Given the description of an element on the screen output the (x, y) to click on. 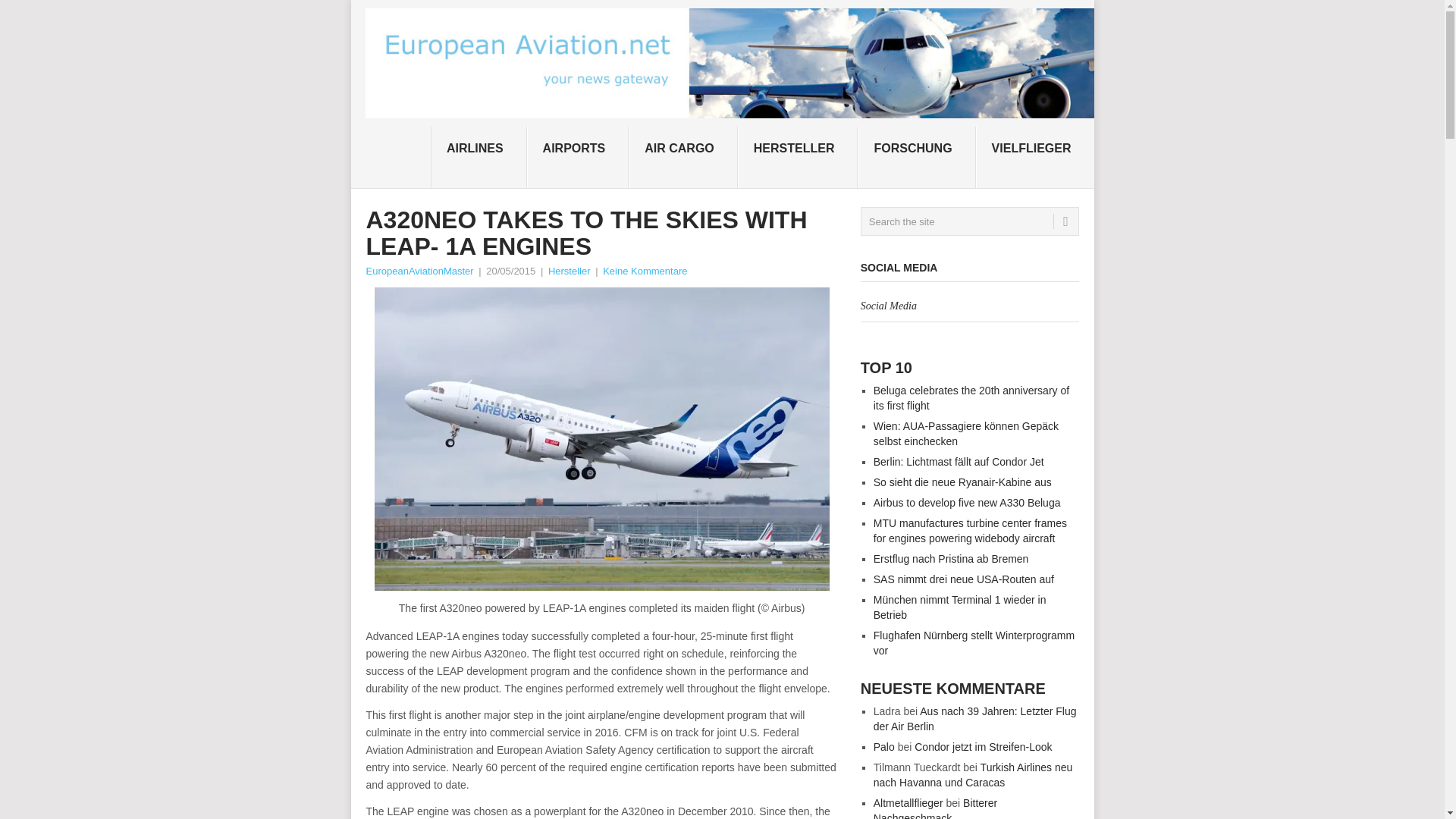
Search the site (969, 221)
AIRPORTS (577, 157)
Erstflug nach Pristina ab Bremen (951, 558)
Condor jetzt im Streifen-Look (982, 746)
Airbus to develop five new A330 Beluga (967, 502)
Beluga celebrates the 20th anniversary of its first flight (970, 397)
Aus nach 39 Jahren: Letzter Flug der Air Berlin (975, 718)
FORSCHUNG (916, 157)
AIRLINES (478, 157)
SAS nimmt drei neue USA-Routen auf (963, 579)
Palo (884, 746)
EuropeanAviationMaster (419, 270)
So sieht die neue Ryanair-Kabine aus (962, 481)
Turkish Airlines neu nach Havanna und Caracas (973, 774)
